Given the description of an element on the screen output the (x, y) to click on. 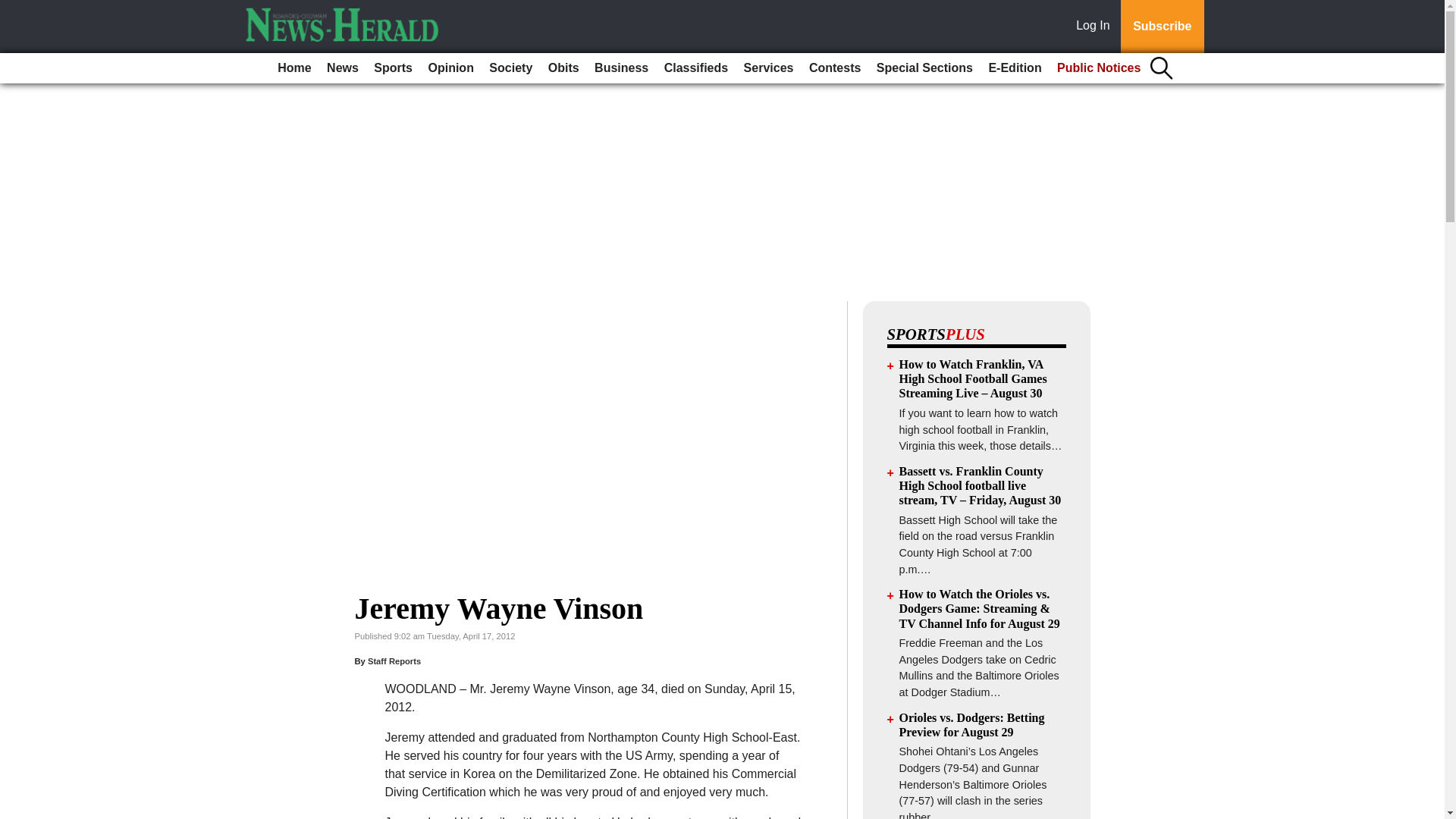
Opinion (450, 68)
Subscribe (1162, 26)
Public Notices (1099, 68)
Society (510, 68)
Go (13, 9)
Special Sections (924, 68)
Services (768, 68)
Home (293, 68)
News (342, 68)
Obits (563, 68)
